Given the description of an element on the screen output the (x, y) to click on. 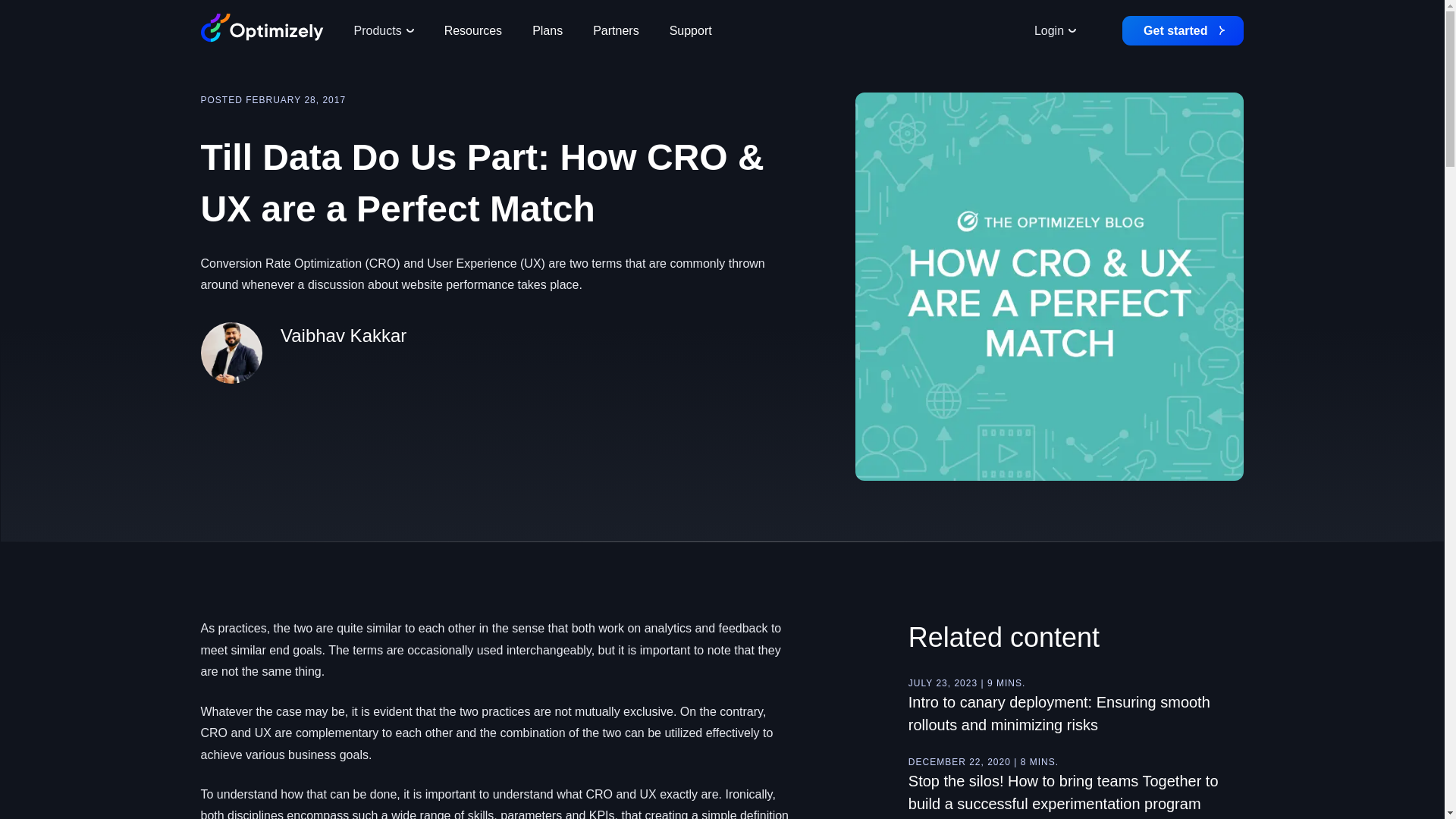
Support (689, 30)
Resources (472, 30)
Optimizely Logo (261, 27)
Optimizely Logo (261, 30)
Login (1054, 30)
Products (382, 30)
Partners (615, 30)
Plans (547, 30)
